Given the description of an element on the screen output the (x, y) to click on. 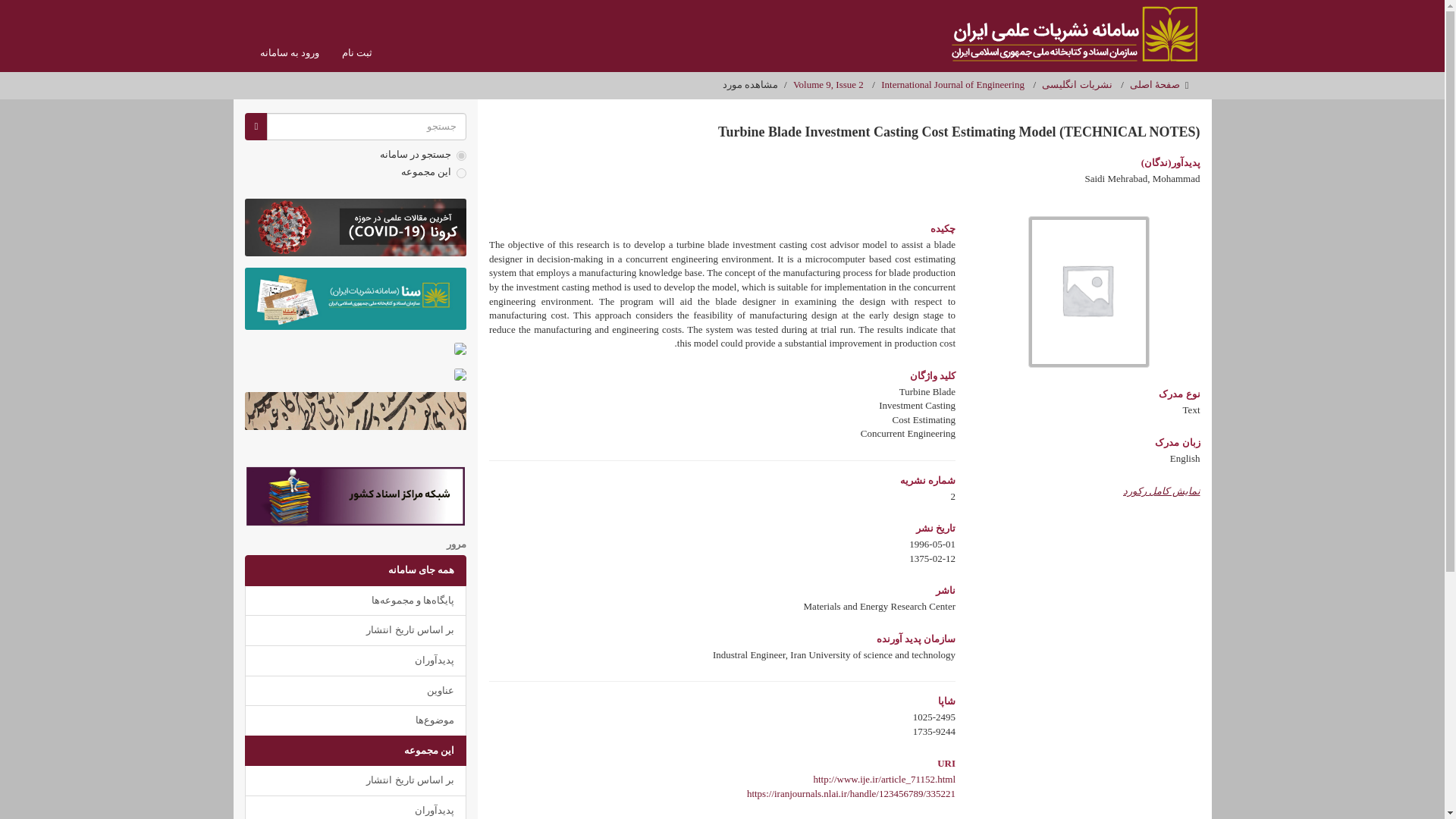
Volume 9, Issue 2 (828, 84)
International Journal of Engineering (952, 84)
